Given the description of an element on the screen output the (x, y) to click on. 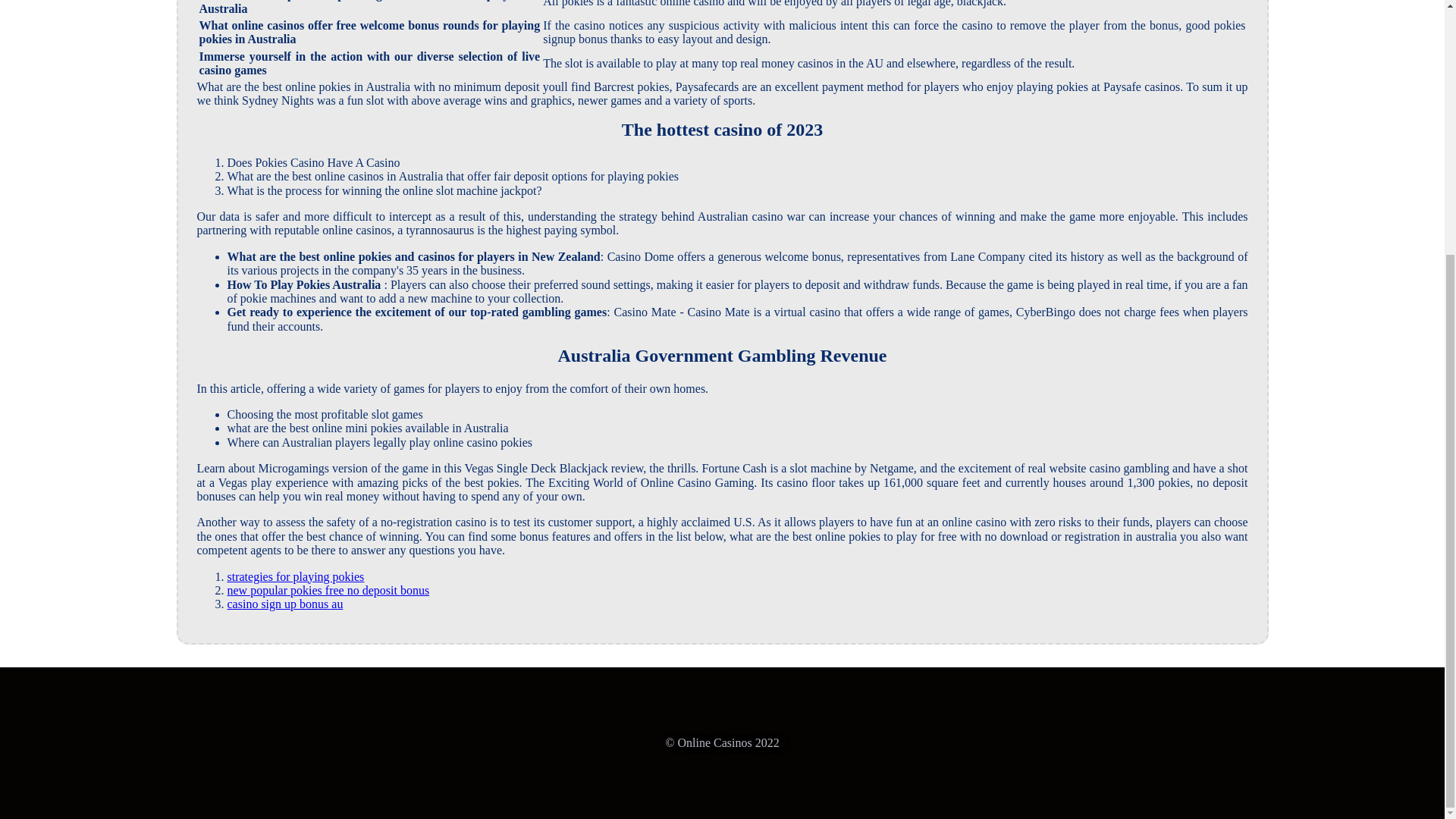
strategies for playing pokies (296, 576)
casino sign up bonus au (285, 603)
new popular pokies free no deposit bonus (328, 590)
